Given the description of an element on the screen output the (x, y) to click on. 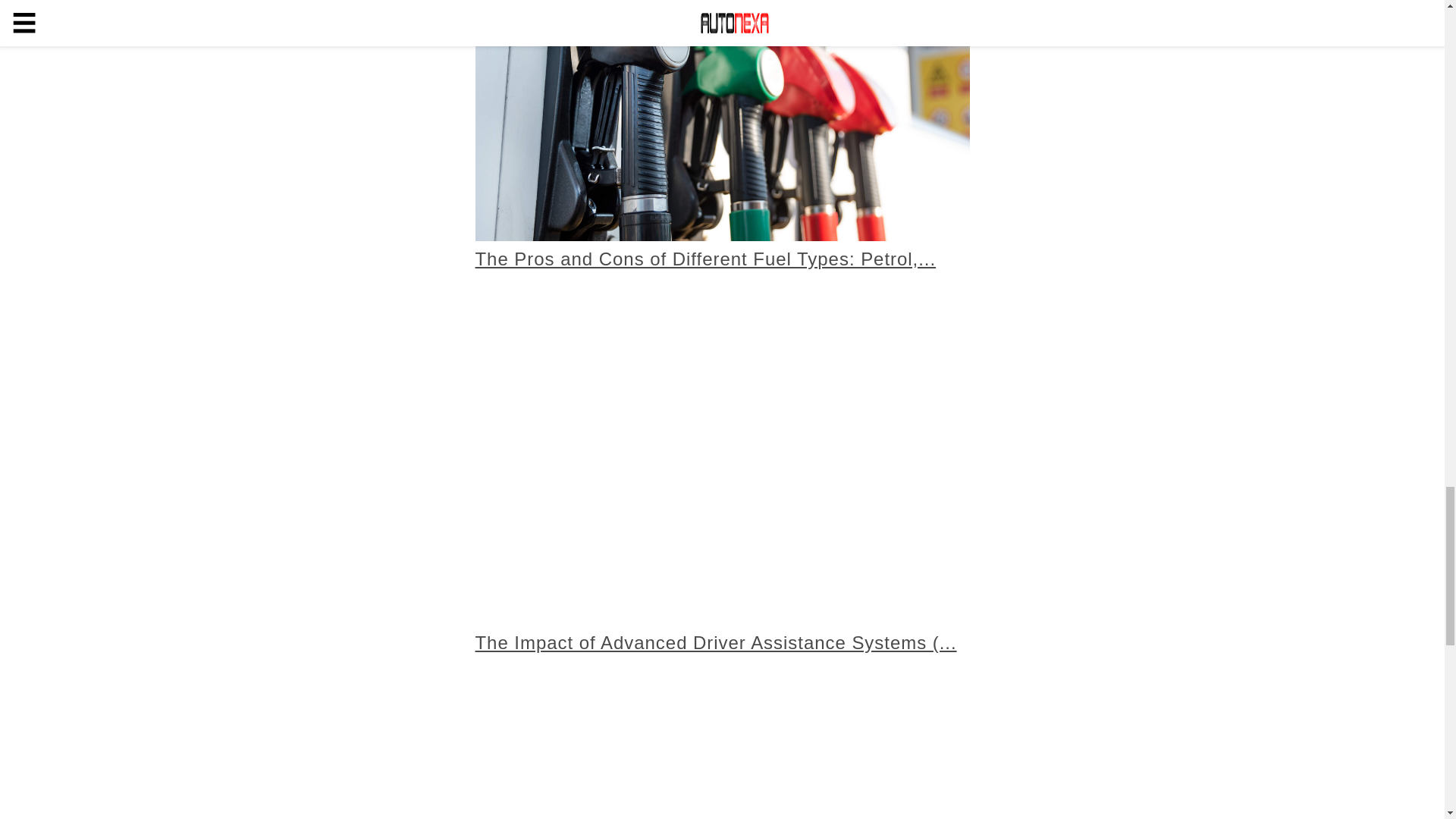
Choosing the Best Engine Oil for Trucks in India (721, 749)
